Given the description of an element on the screen output the (x, y) to click on. 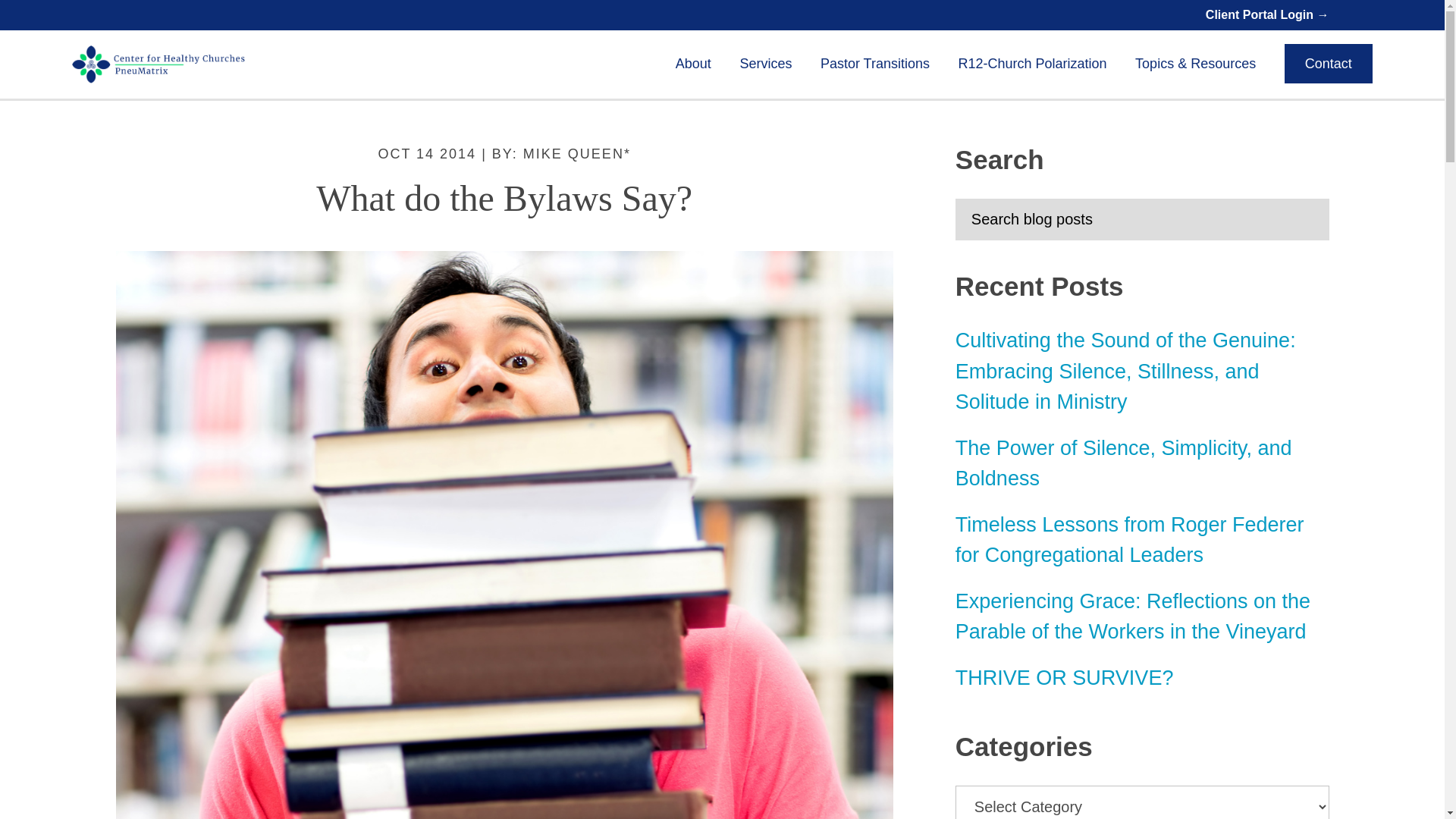
Church Transition Consulting (874, 64)
Services (765, 64)
R12-Church Polarization (1032, 64)
Search (1355, 210)
Contact Center for Healthy Churches (1328, 63)
Pastor Transitions (874, 64)
Search (1355, 210)
